Given the description of an element on the screen output the (x, y) to click on. 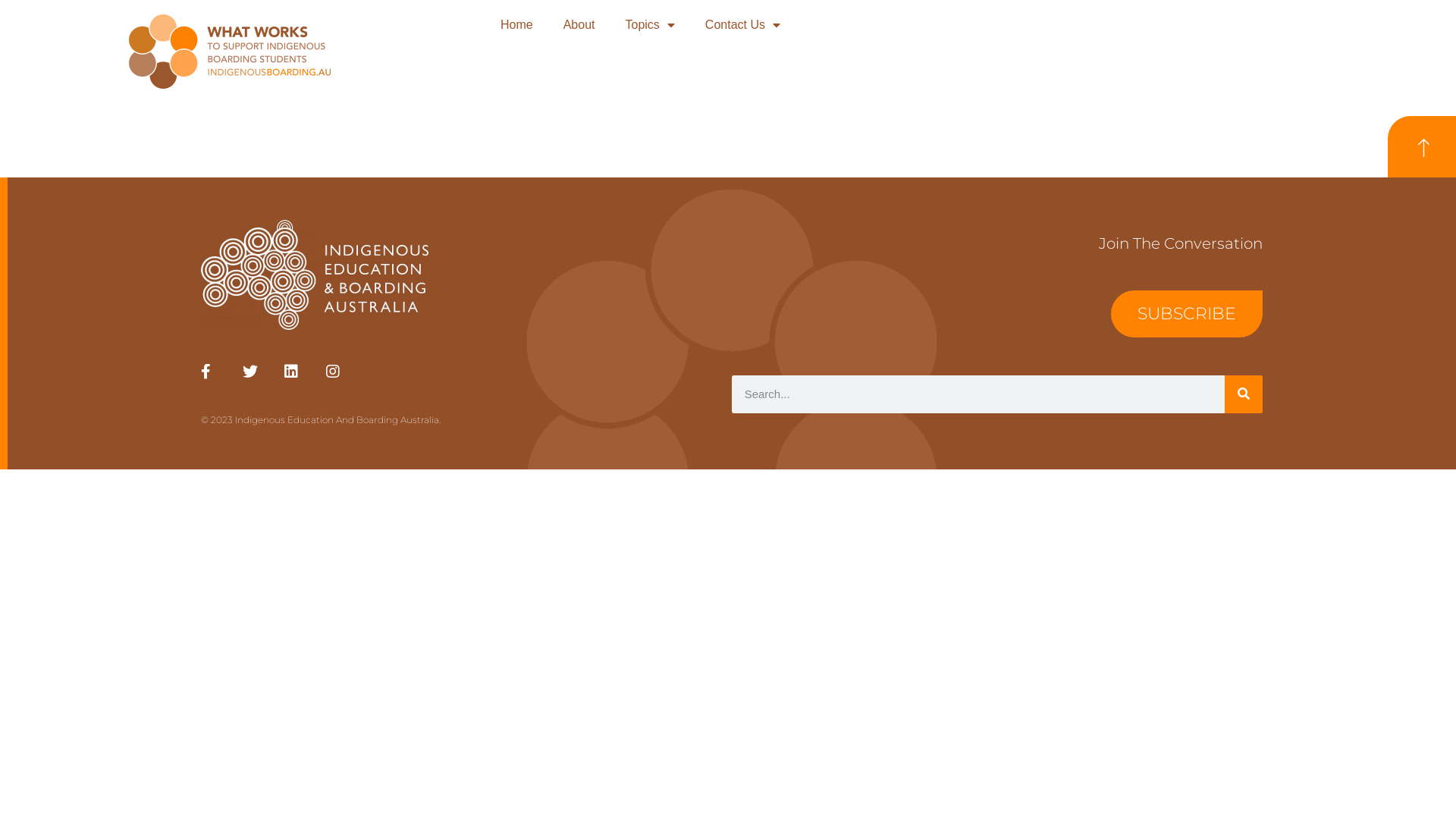
SUBSCRIBE Element type: text (1186, 313)
Home Element type: text (516, 24)
Topics Element type: text (649, 24)
Contact Us Element type: text (742, 24)
About Element type: text (579, 24)
